Given the description of an element on the screen output the (x, y) to click on. 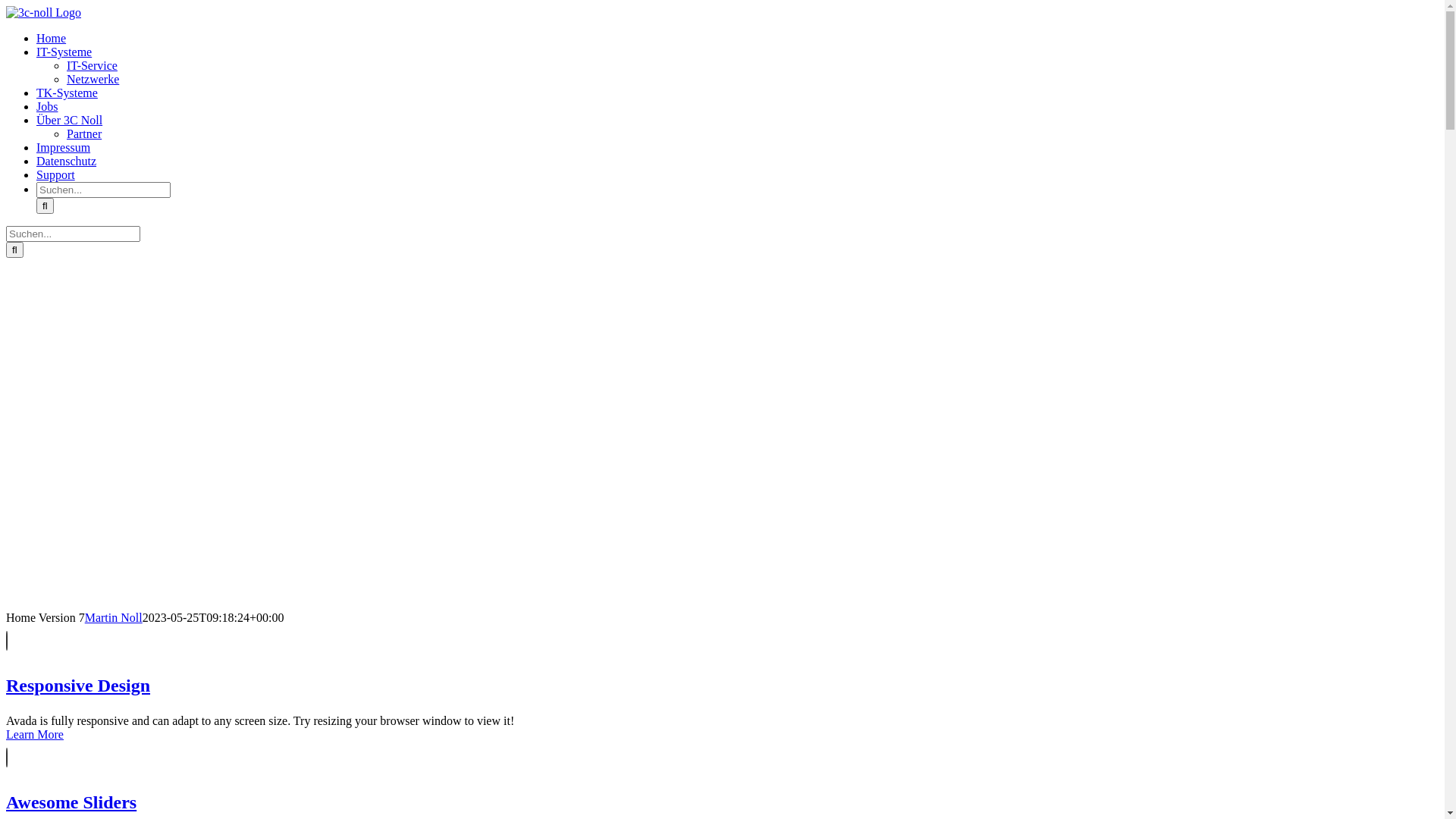
Martin Noll Element type: text (113, 617)
Jobs Element type: text (46, 106)
Awesome Sliders Element type: text (423, 778)
Responsive Design Element type: text (423, 661)
Partner Element type: text (83, 133)
TK-Systeme Element type: text (66, 92)
Learn More Element type: text (34, 734)
Zum Inhalt springen Element type: text (5, 5)
IT-Service Element type: text (91, 65)
Impressum Element type: text (63, 147)
IT-Systeme Element type: text (63, 51)
Support Element type: text (55, 174)
Datenschutz Element type: text (66, 160)
Netzwerke Element type: text (92, 78)
Home Element type: text (50, 37)
